Given the description of an element on the screen output the (x, y) to click on. 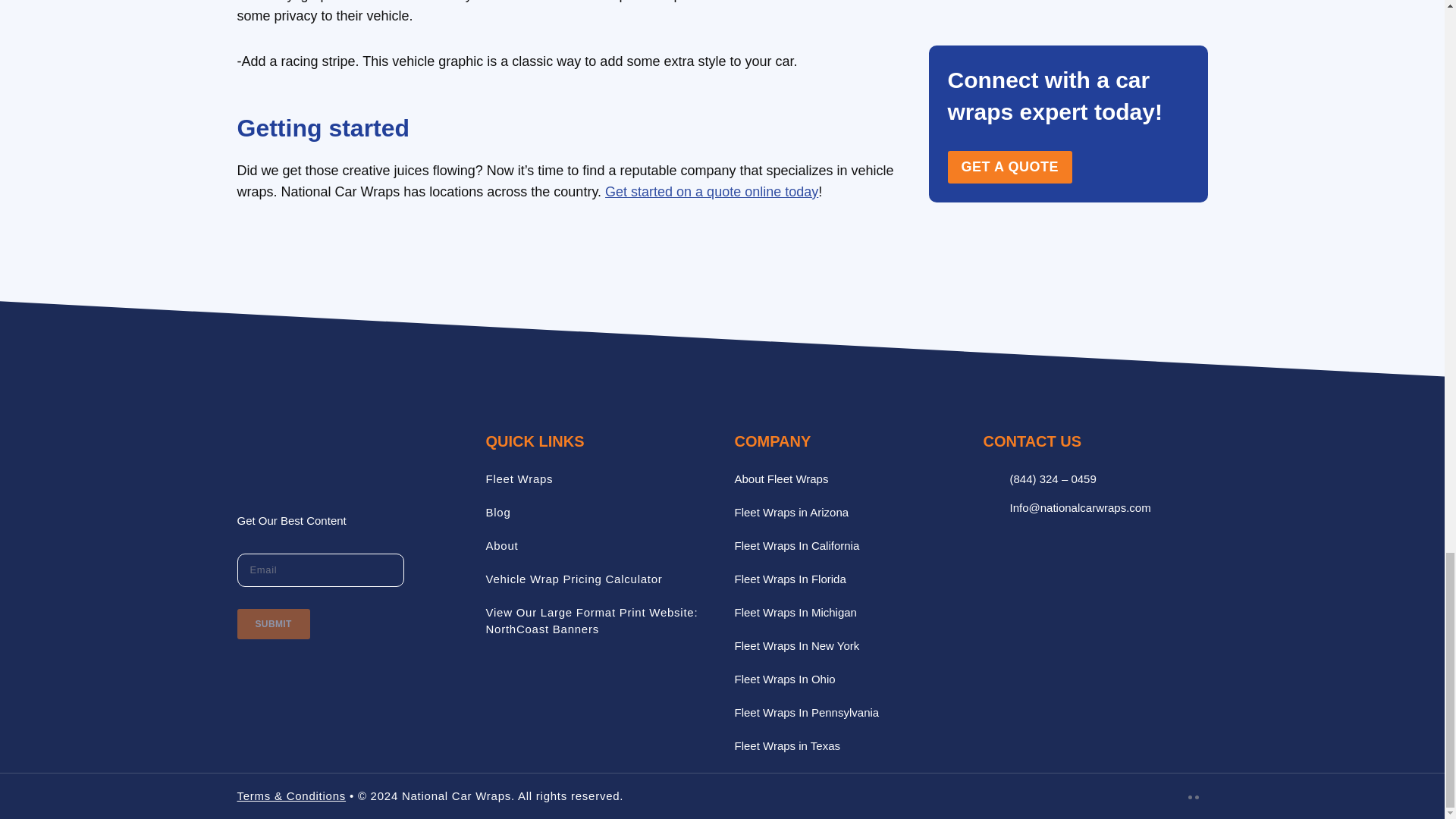
Fleet Wraps (518, 478)
Blog (497, 512)
Submit (271, 624)
About (501, 545)
Get started on a quote online today (711, 191)
About Fleet Wraps (780, 478)
Vehicle Wrap Pricing Calculator (573, 578)
Submit (271, 624)
View Our Large Format Print Website: NorthCoast Banners (590, 620)
